Given the description of an element on the screen output the (x, y) to click on. 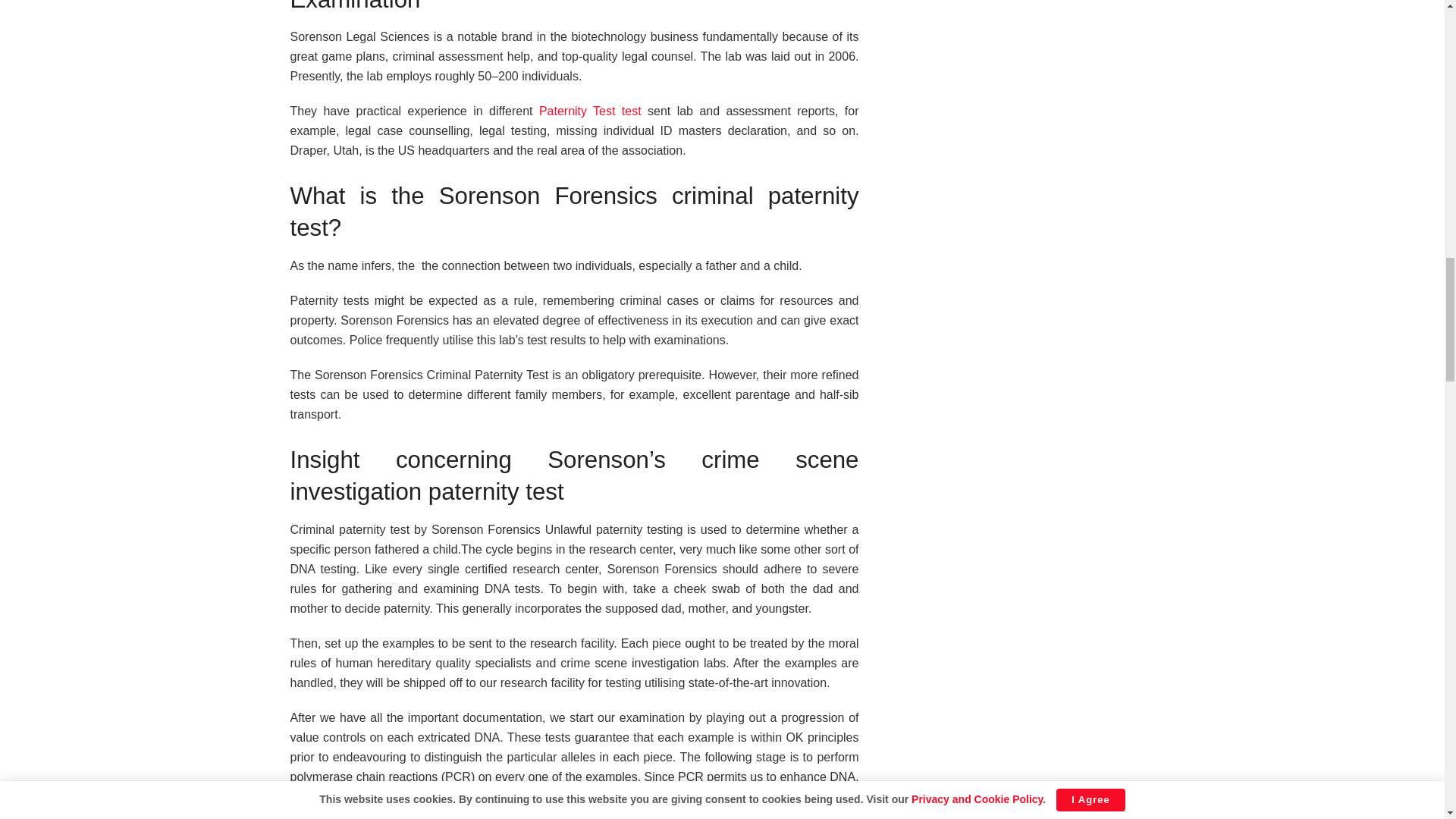
Paternity Test test (590, 110)
